Given the description of an element on the screen output the (x, y) to click on. 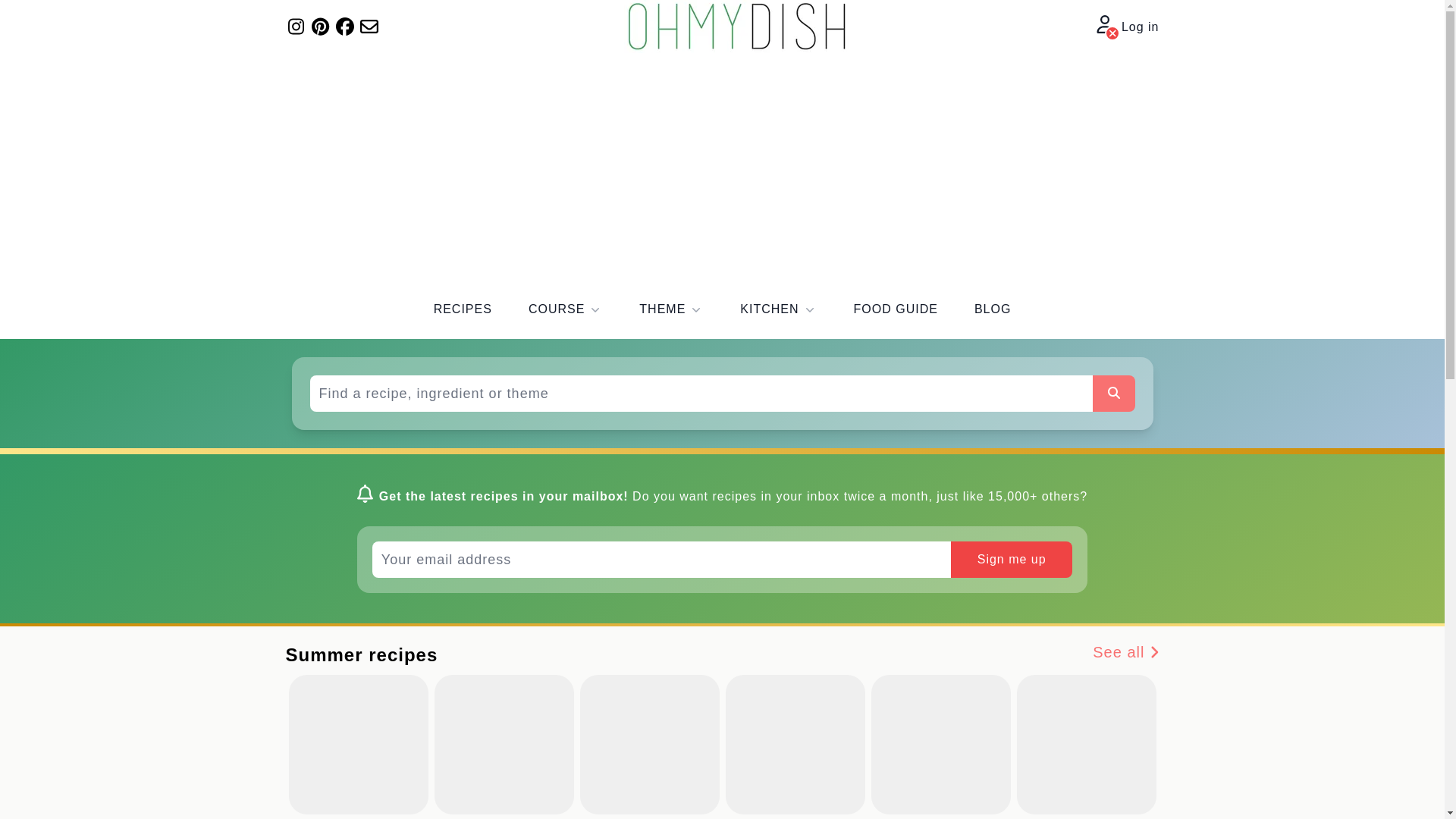
See all (1125, 654)
Log in (1127, 26)
KITCHEN (777, 309)
COURSE (565, 309)
Recipes (462, 309)
Sign me up (1010, 559)
RECIPES (462, 309)
BLOG (992, 309)
THEME (671, 309)
FOOD GUIDE (895, 309)
